Given the description of an element on the screen output the (x, y) to click on. 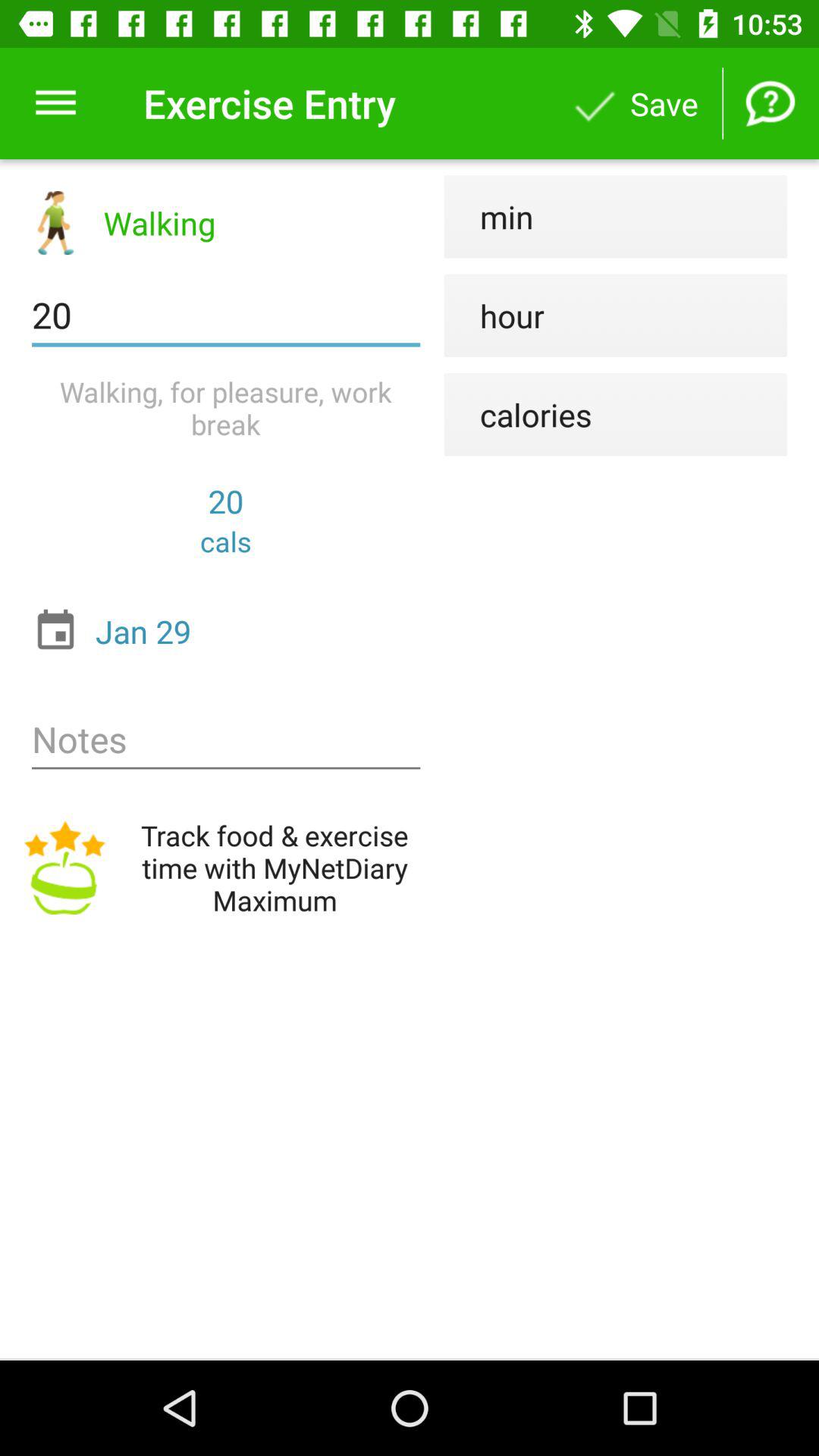
tap item below the   min icon (494, 315)
